Given the description of an element on the screen output the (x, y) to click on. 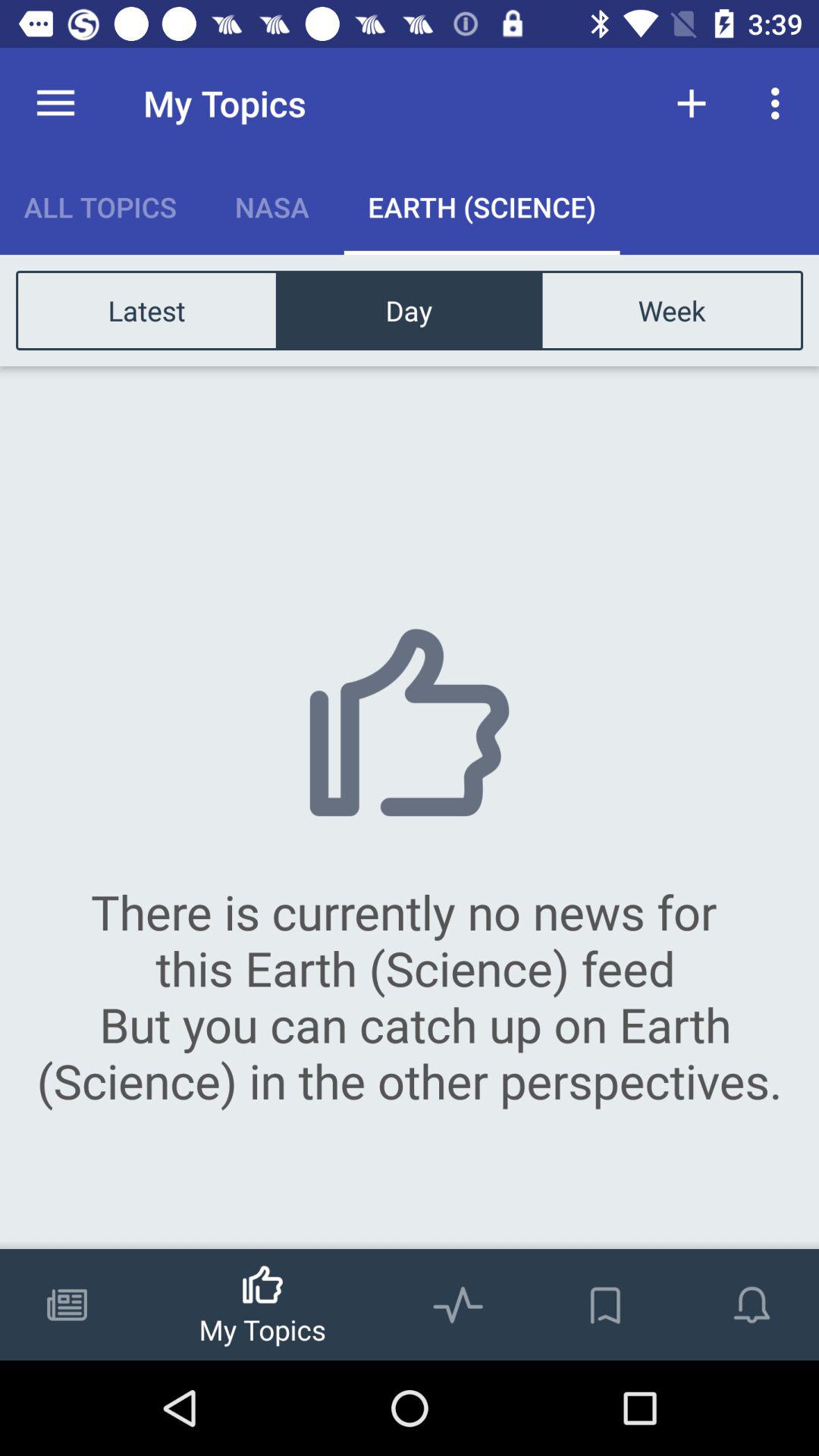
turn off the day item (409, 310)
